Given the description of an element on the screen output the (x, y) to click on. 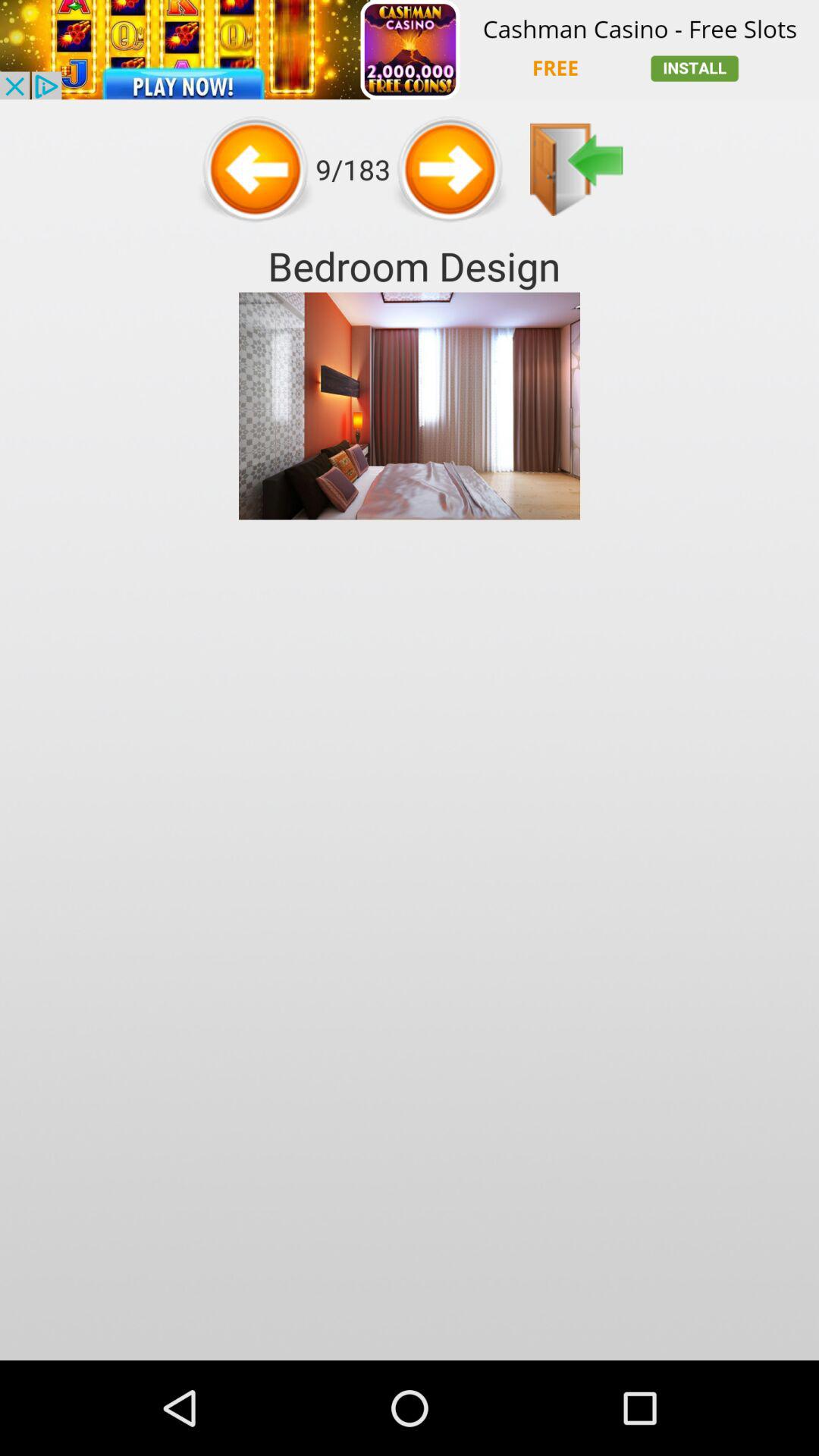
next (450, 169)
